Given the description of an element on the screen output the (x, y) to click on. 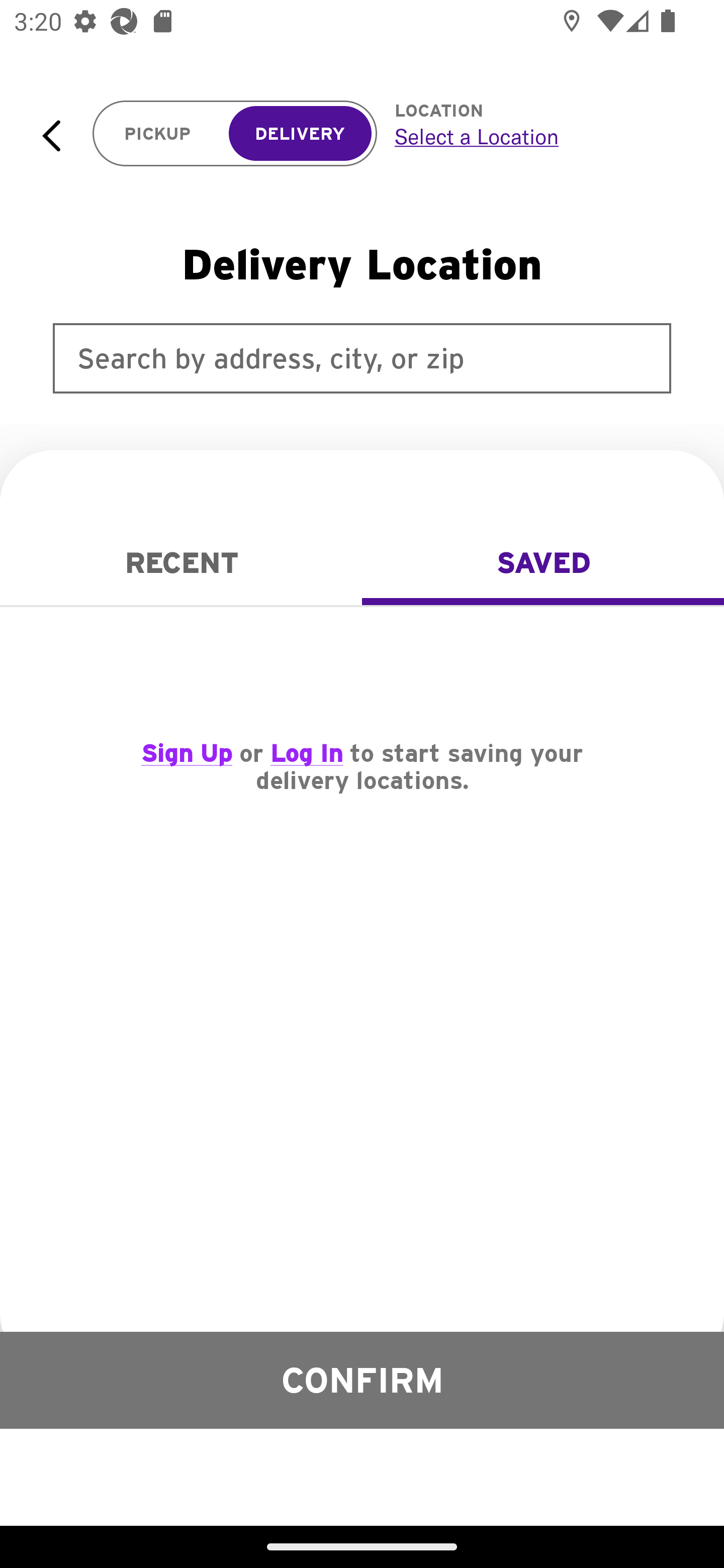
PICKUP (157, 133)
DELIVERY (299, 133)
Select a Location (536, 136)
Search by address, city, or zip (361, 358)
Recent RECENT (181, 562)
CONFIRM (362, 1379)
